Given the description of an element on the screen output the (x, y) to click on. 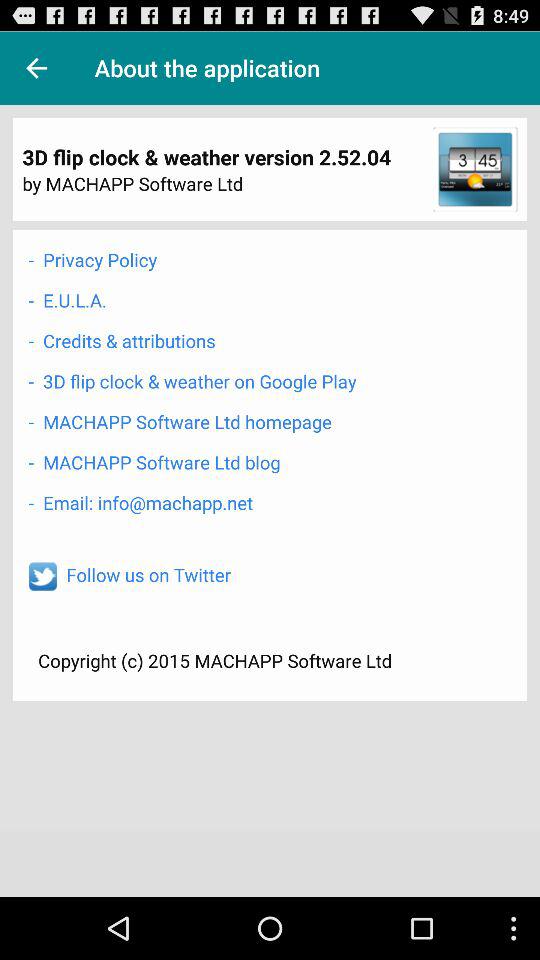
choose item below the email info machapp icon (148, 574)
